Given the description of an element on the screen output the (x, y) to click on. 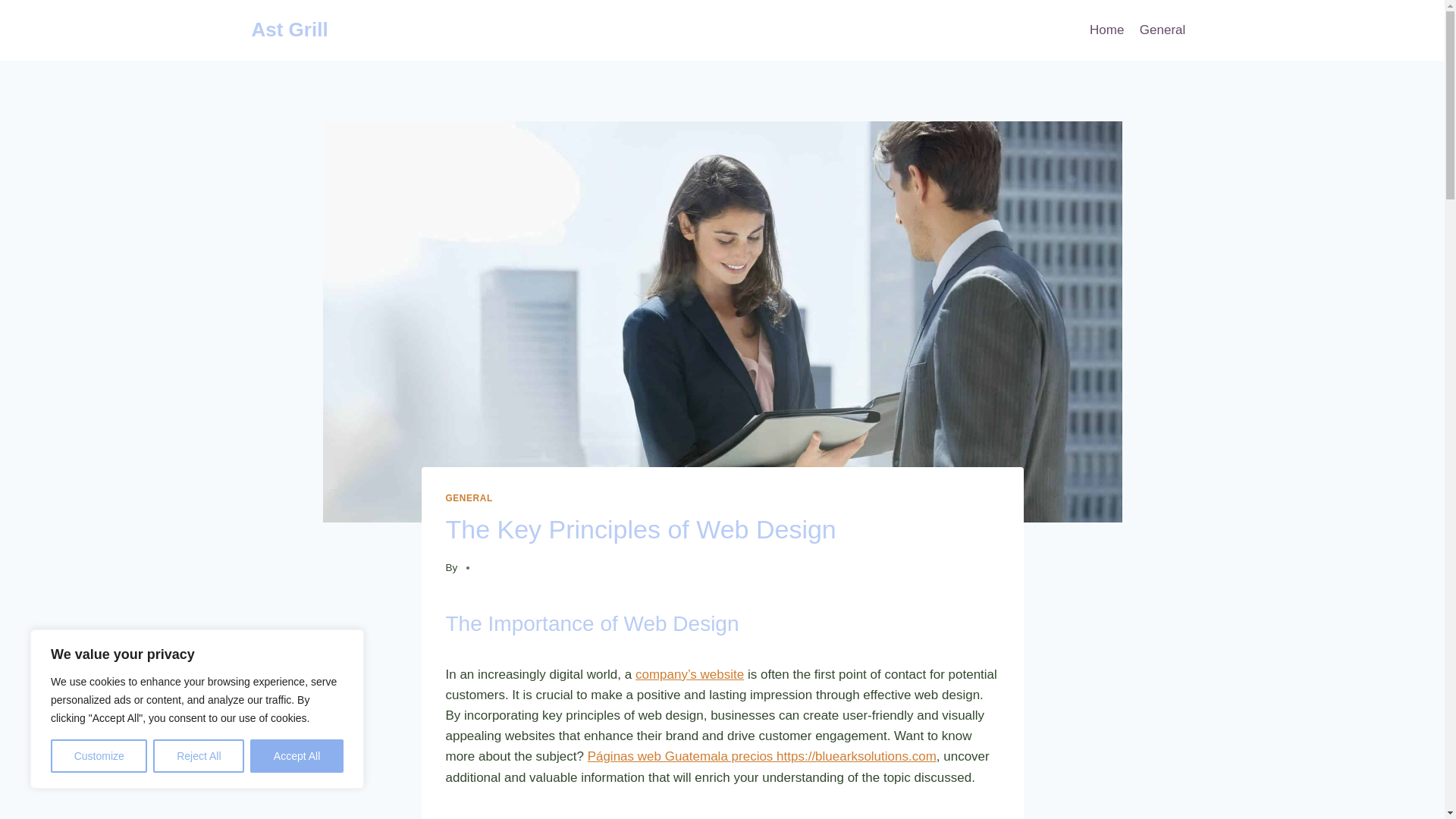
Ast Grill (290, 29)
Home (1106, 30)
Customize (98, 756)
Accept All (296, 756)
Reject All (198, 756)
General (1162, 30)
GENERAL (469, 498)
